Given the description of an element on the screen output the (x, y) to click on. 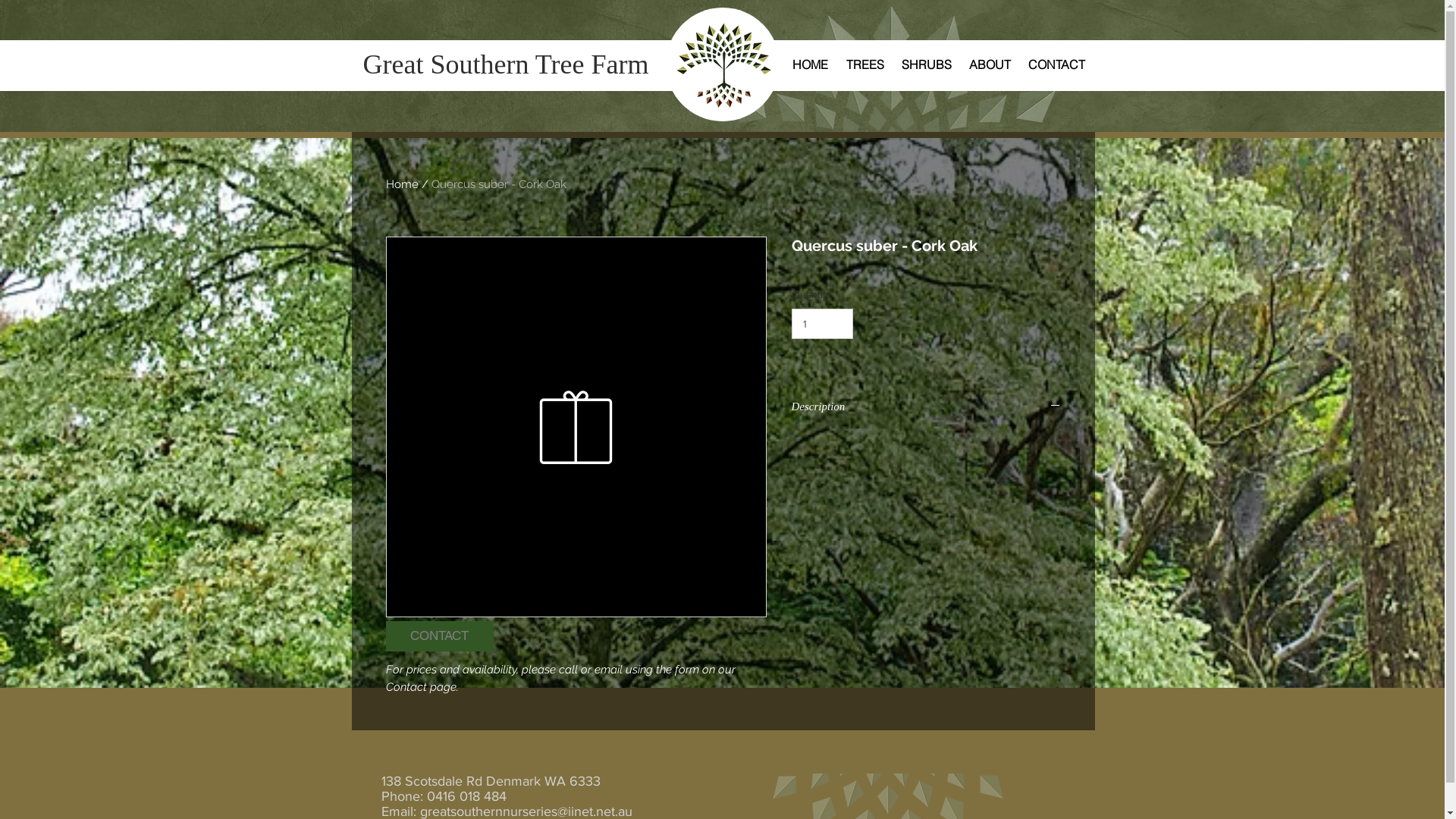
Home Element type: text (401, 184)
Quercus suber - Cork Oak Element type: text (497, 184)
LogoSymbolWatermark.png Element type: hover (890, 68)
CONTACT Element type: text (1056, 64)
TREES Element type: text (865, 64)
HOME Element type: text (809, 64)
SHRUBS Element type: text (926, 64)
CONTACT Element type: text (438, 636)
ABOUT Element type: text (989, 64)
Description Element type: text (925, 406)
